Given the description of an element on the screen output the (x, y) to click on. 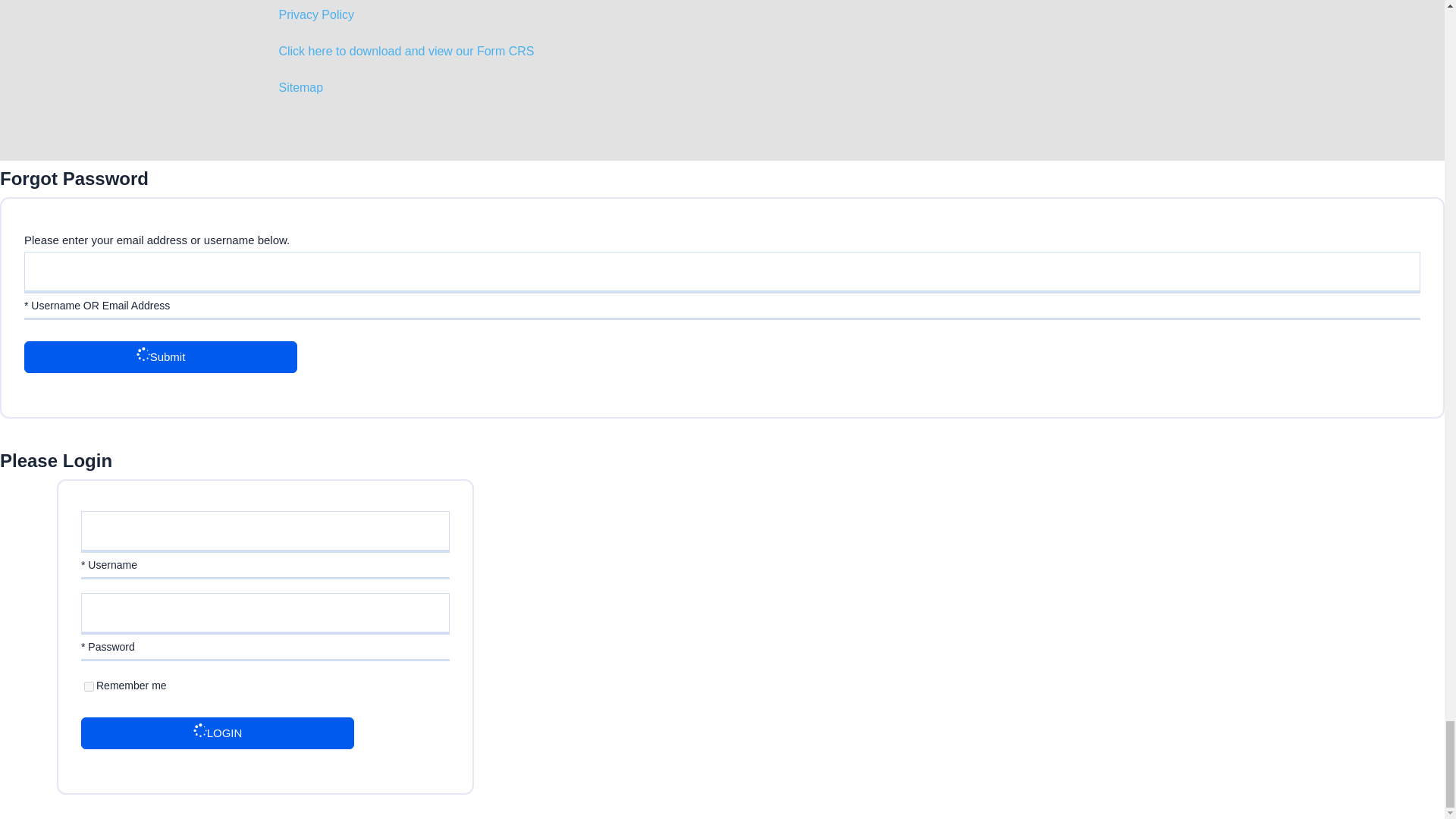
forever (89, 686)
